Given the description of an element on the screen output the (x, y) to click on. 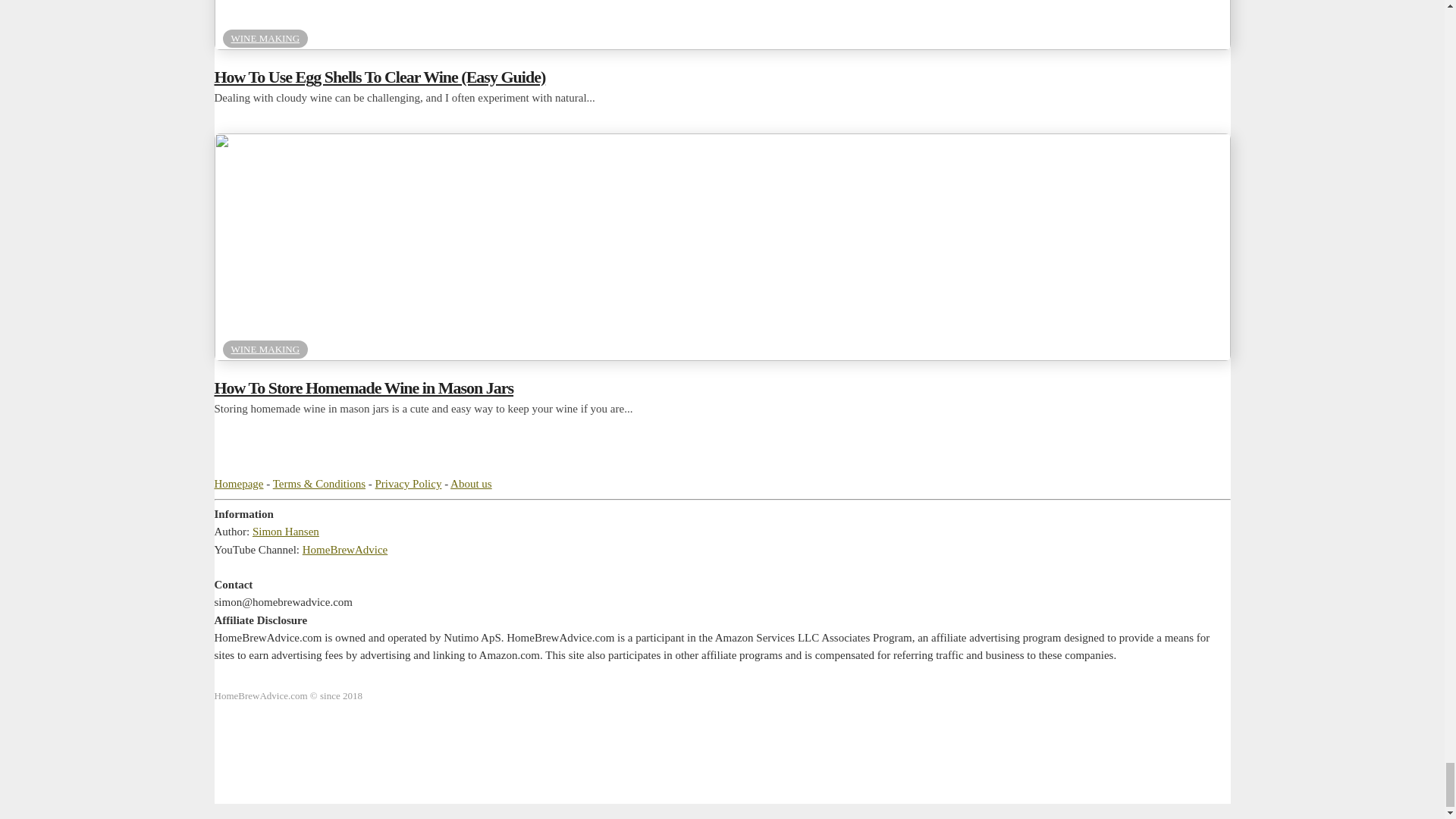
How To Store Homemade Wine in Mason Jars (722, 355)
How To Store Homemade Wine in Mason Jars (722, 387)
